Given the description of an element on the screen output the (x, y) to click on. 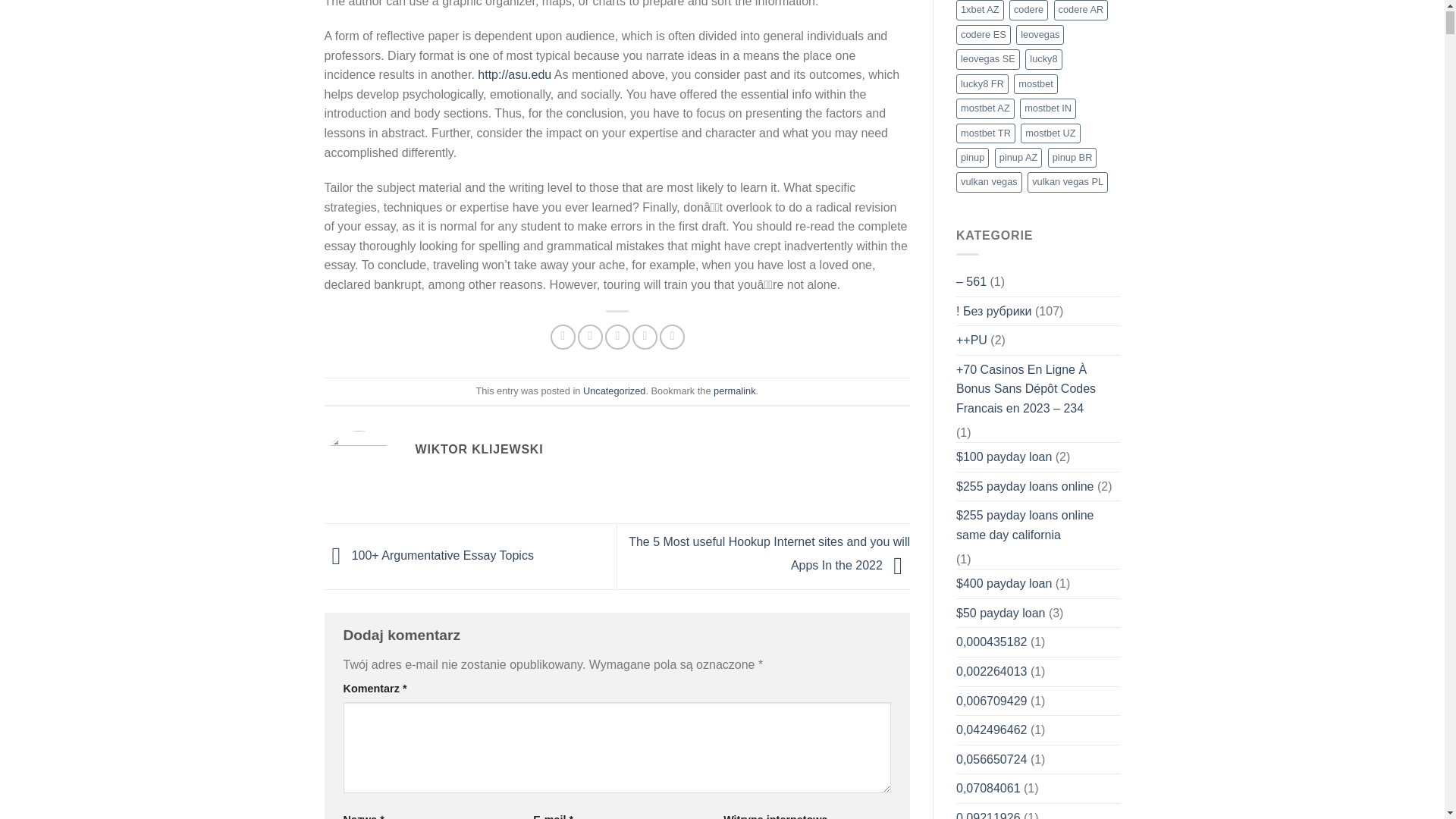
Share on Facebook (562, 336)
Permalink to The Way To Write A Mirrored Image Paper (734, 390)
Pin on Pinterest (644, 336)
permalink (734, 390)
Uncategorized (614, 390)
Share on Twitter (590, 336)
Email to a Friend (617, 336)
Share on LinkedIn (671, 336)
